Given the description of an element on the screen output the (x, y) to click on. 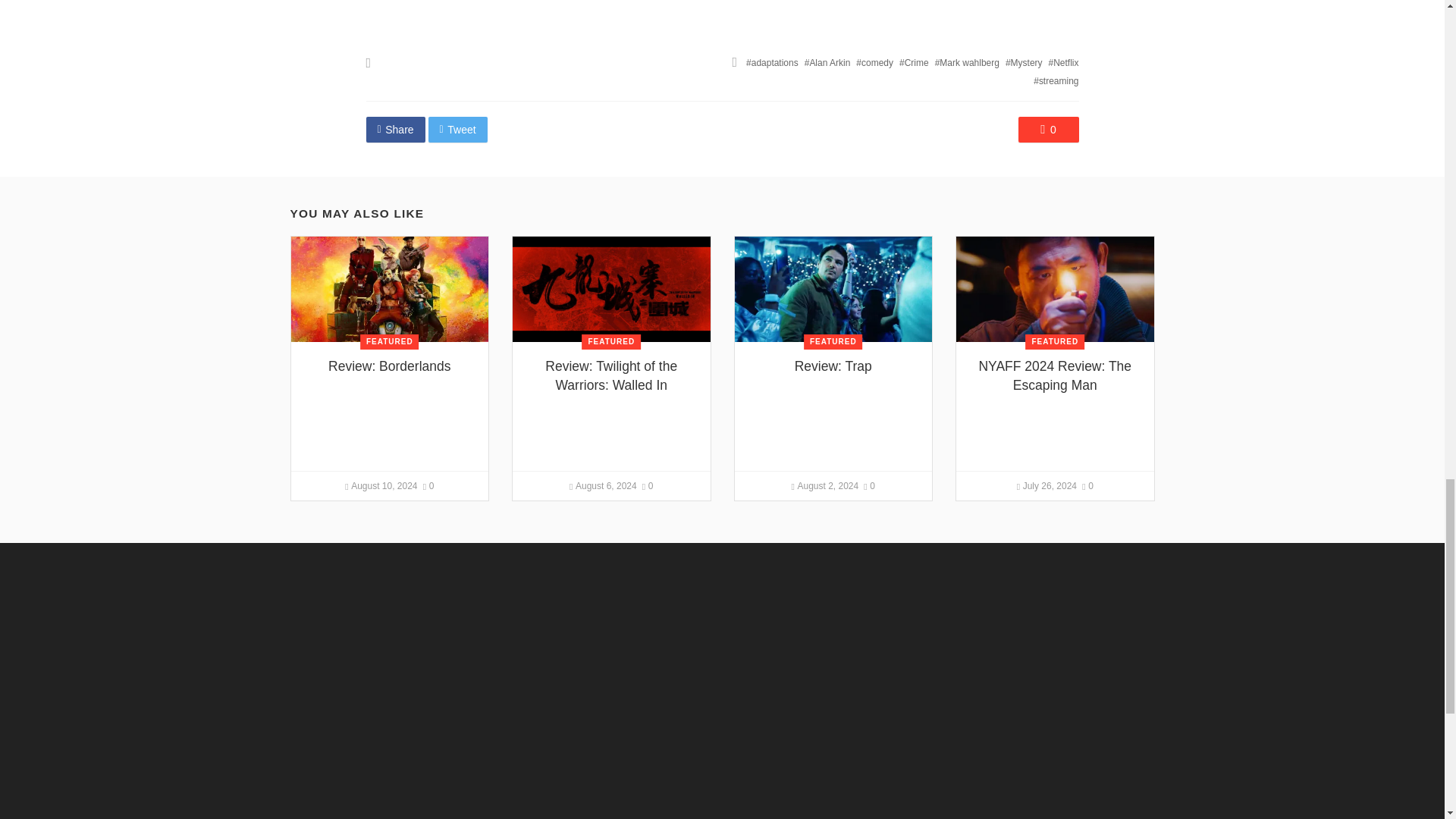
adaptations (771, 62)
Mark wahlberg (966, 62)
Crime (913, 62)
Mystery (1024, 62)
Alan Arkin (827, 62)
comedy (874, 62)
